Given the description of an element on the screen output the (x, y) to click on. 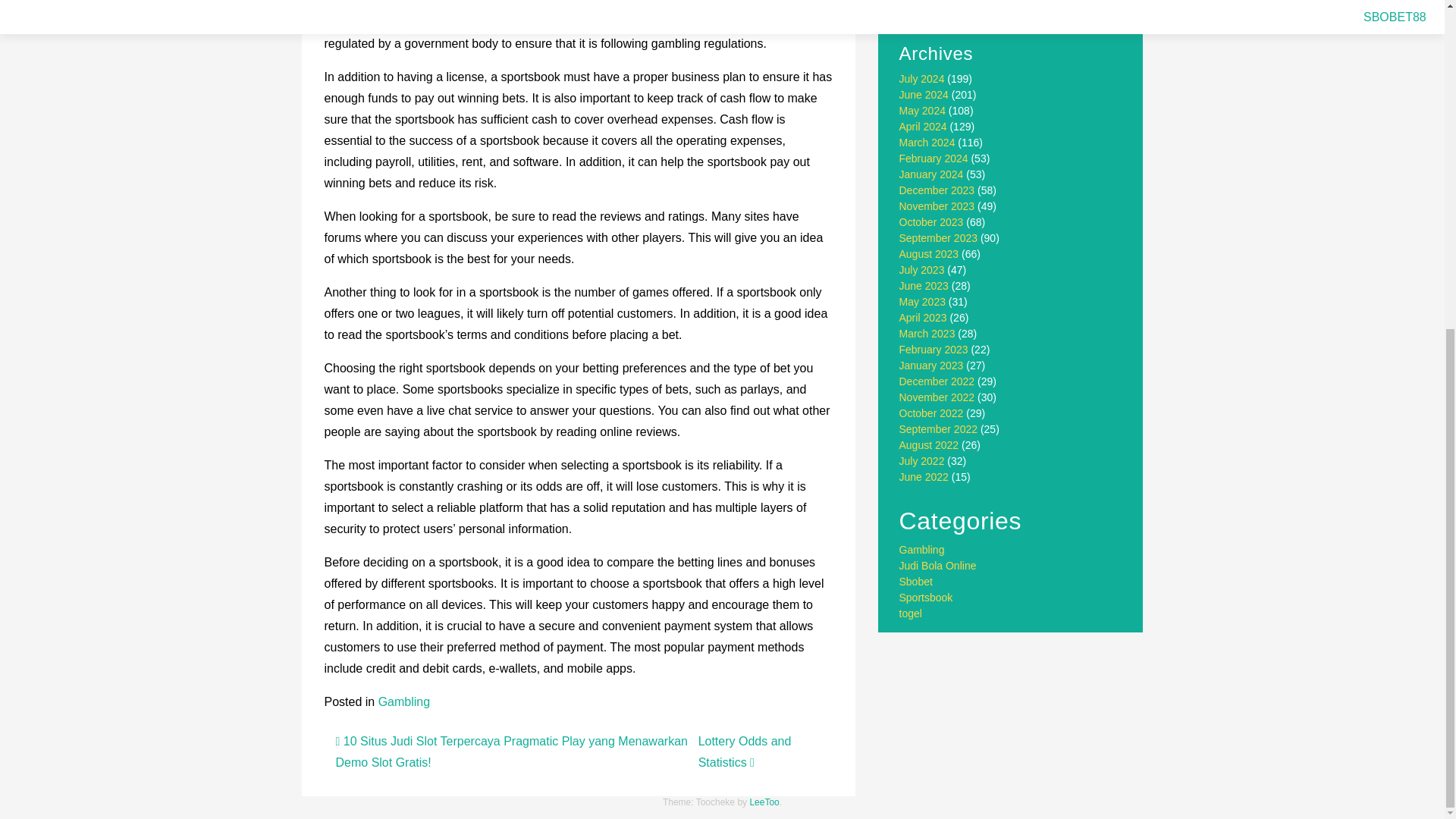
July 2022 (921, 460)
August 2022 (929, 444)
July 2023 (921, 269)
June 2023 (924, 285)
August 2023 (929, 254)
December 2022 (937, 381)
Gambling (403, 701)
November 2022 (937, 397)
May 2023 (921, 301)
October 2022 (931, 413)
December 2023 (937, 190)
September 2023 (938, 237)
March 2024 (927, 142)
June 2024 (924, 94)
